Given the description of an element on the screen output the (x, y) to click on. 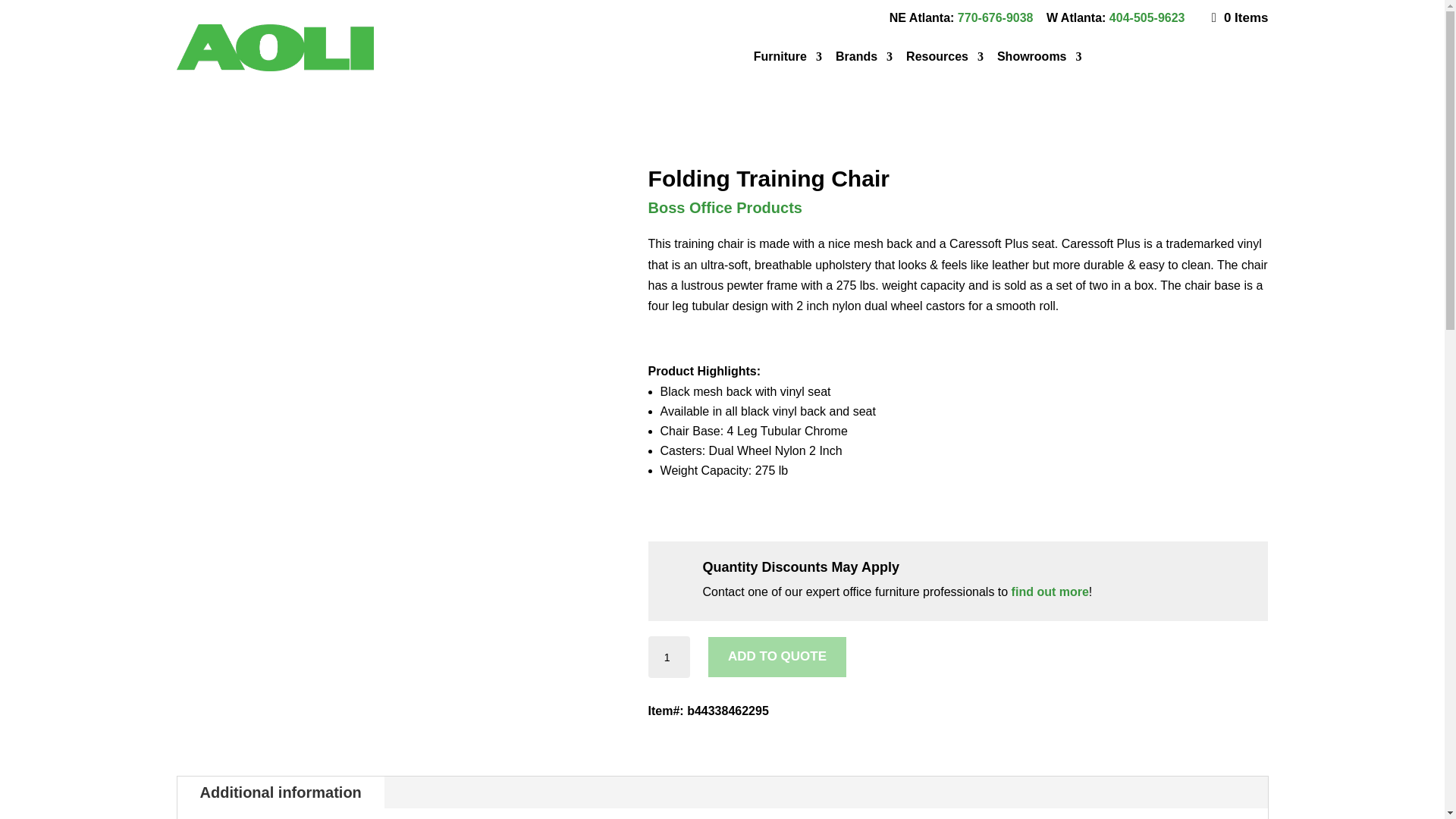
1 (668, 657)
404-505-9623 (1147, 17)
Furniture (788, 56)
Brands (863, 56)
770-676-9038 (995, 17)
0 Items (1239, 17)
